Given the description of an element on the screen output the (x, y) to click on. 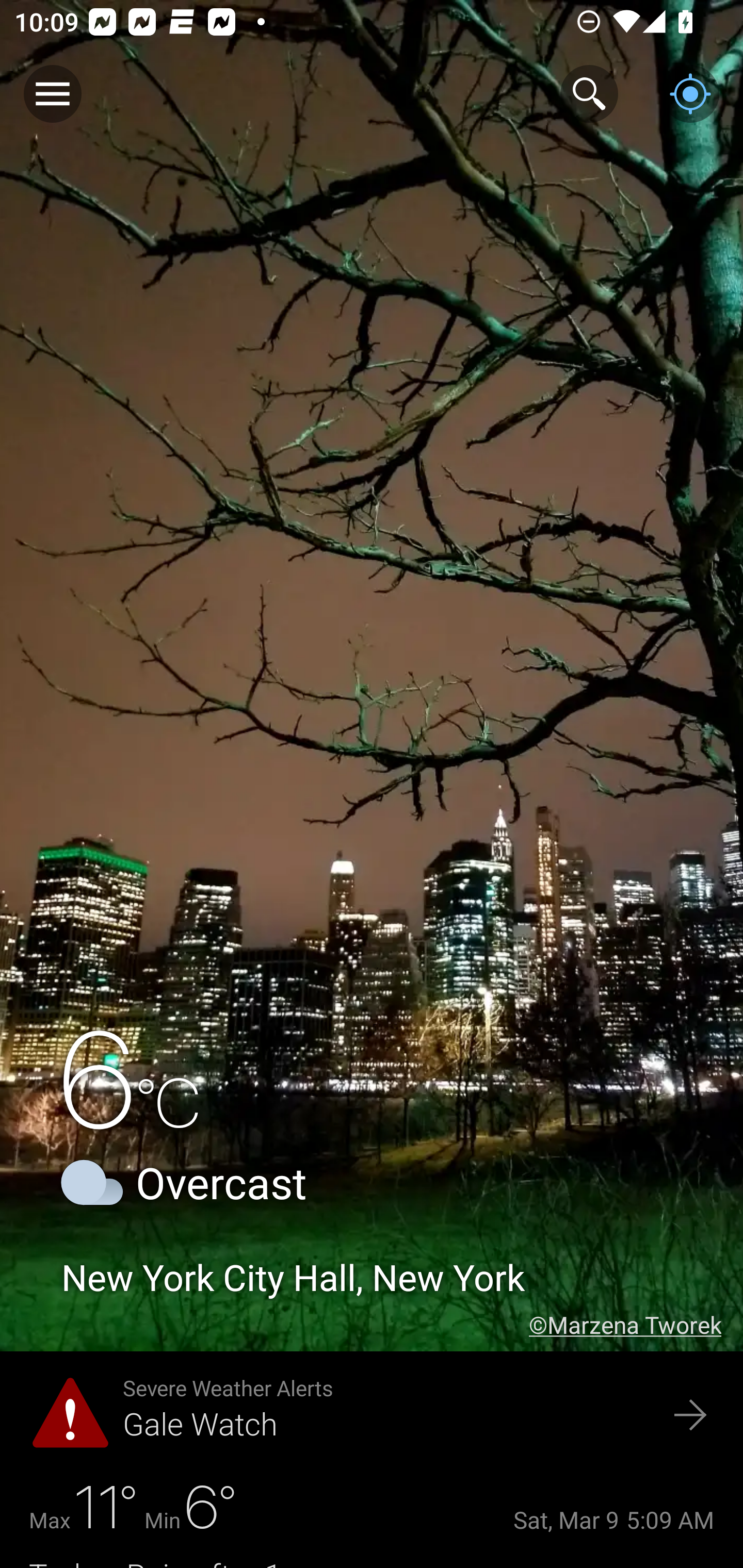
©Marzena Tworek (635, 1324)
Severe Weather Alerts Gale Watch  (371, 1416)
